Given the description of an element on the screen output the (x, y) to click on. 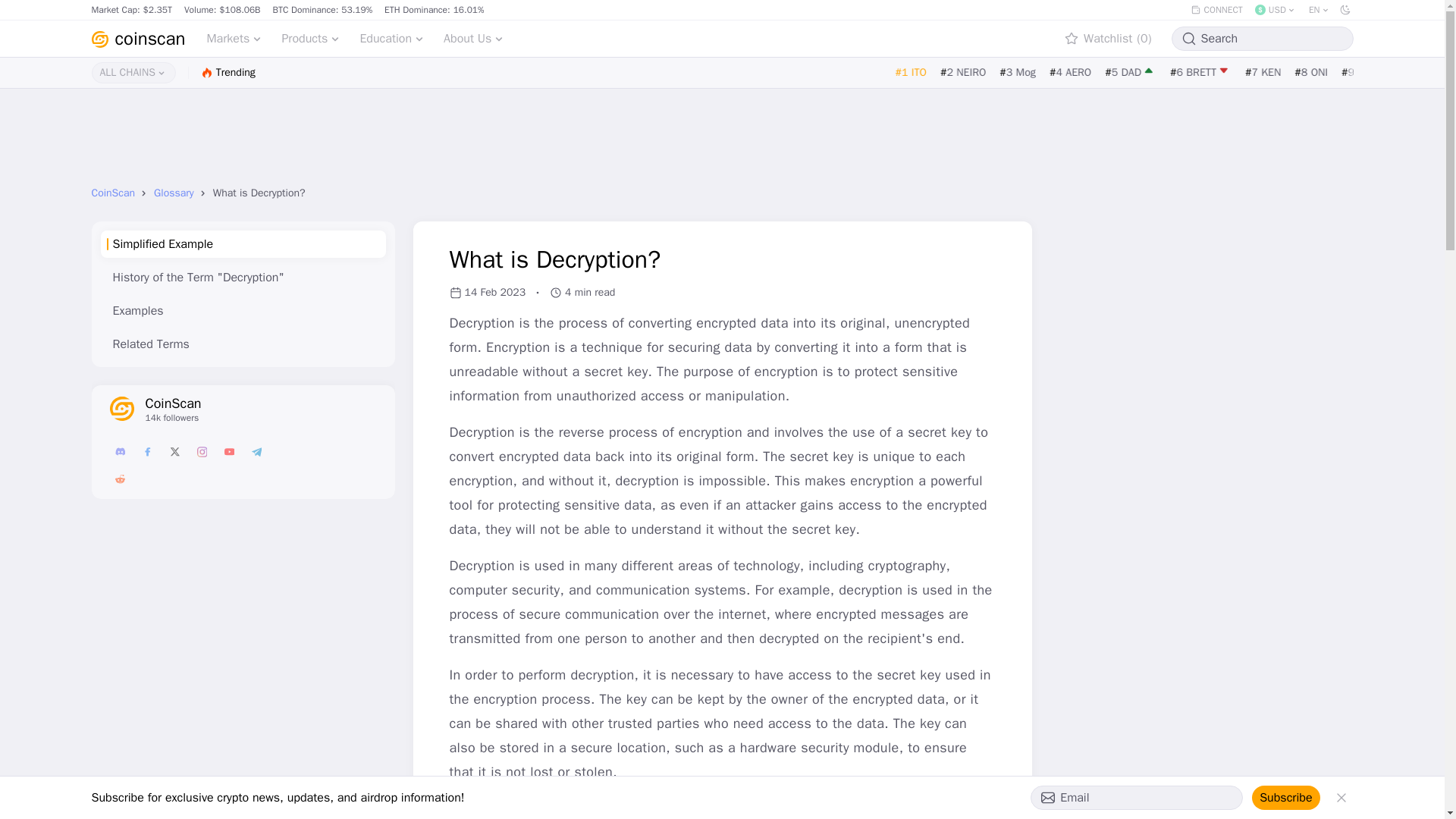
Subscribe (1285, 797)
Markets (234, 38)
USD (1276, 9)
Simplified Example (242, 243)
Examples (242, 310)
CONNECT (1217, 9)
coinscan (137, 38)
EN (1319, 9)
About Us (473, 38)
